Given the description of an element on the screen output the (x, y) to click on. 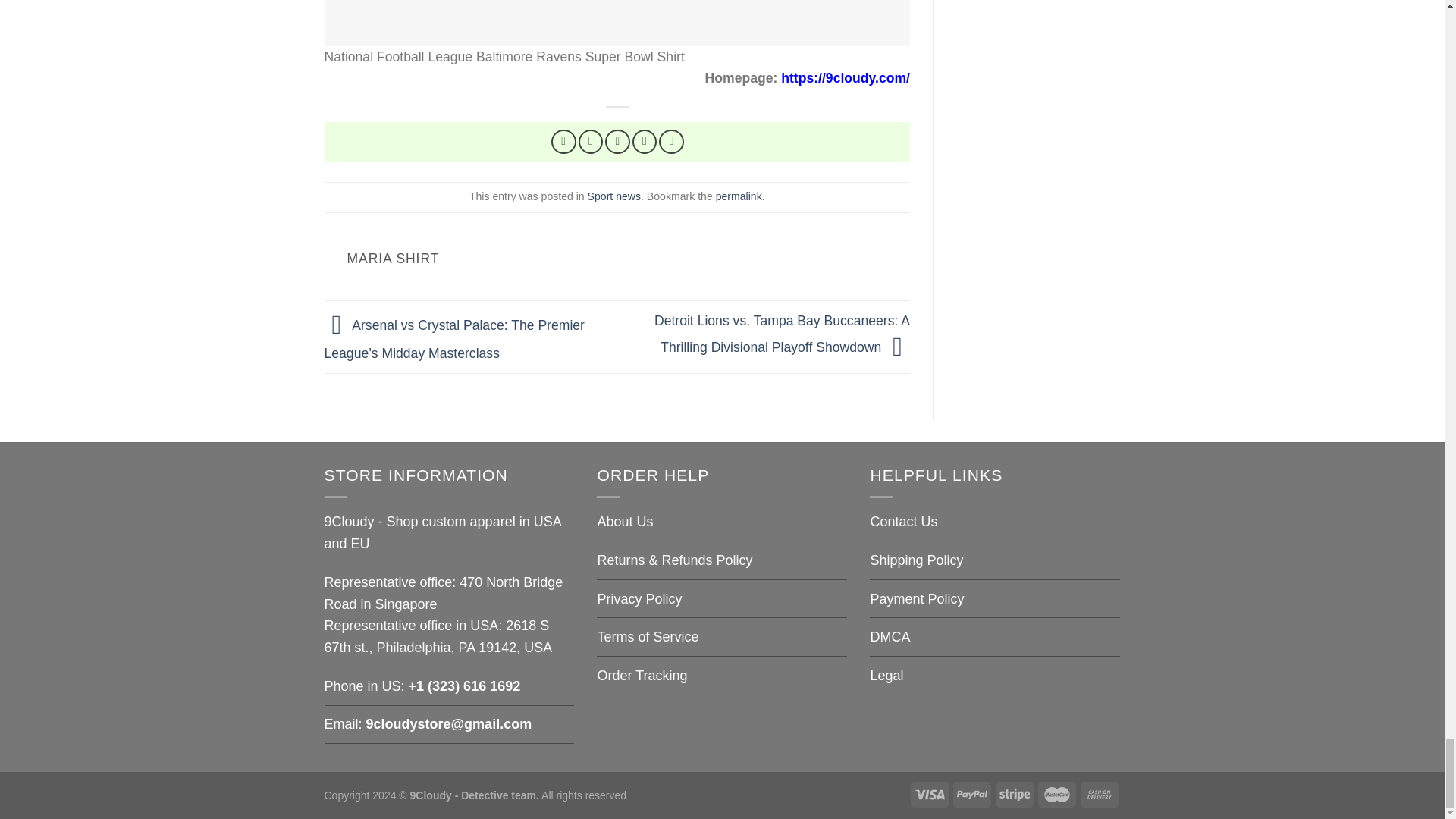
Sport news (614, 196)
Share on Facebook (563, 141)
Share on Twitter (591, 141)
Pin on Pinterest (644, 141)
Share on LinkedIn (671, 141)
Email to a Friend (617, 141)
